Given the description of an element on the screen output the (x, y) to click on. 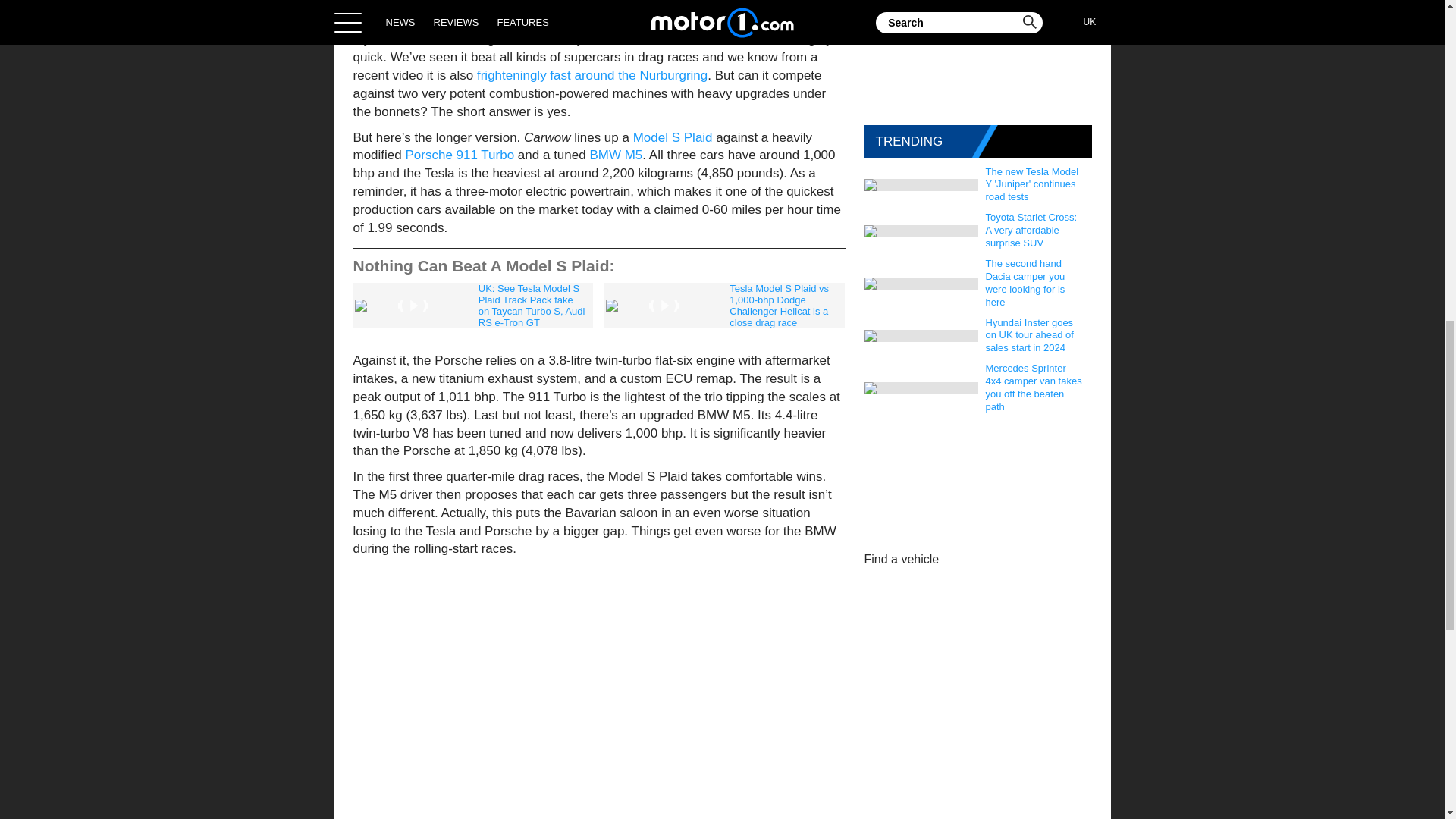
frighteningly fast around the Nurburgring (592, 74)
The second hand Dacia camper you were looking for is here (1035, 283)
Model S Plaid (673, 137)
The new Tesla Model Y 'Juniper' continues road tests (1035, 185)
BMW M5 (615, 155)
Toyota Starlet Cross: A very affordable surprise SUV (1035, 230)
Porsche 911 Turbo (458, 155)
Brian Potter (532, 1)
